Given the description of an element on the screen output the (x, y) to click on. 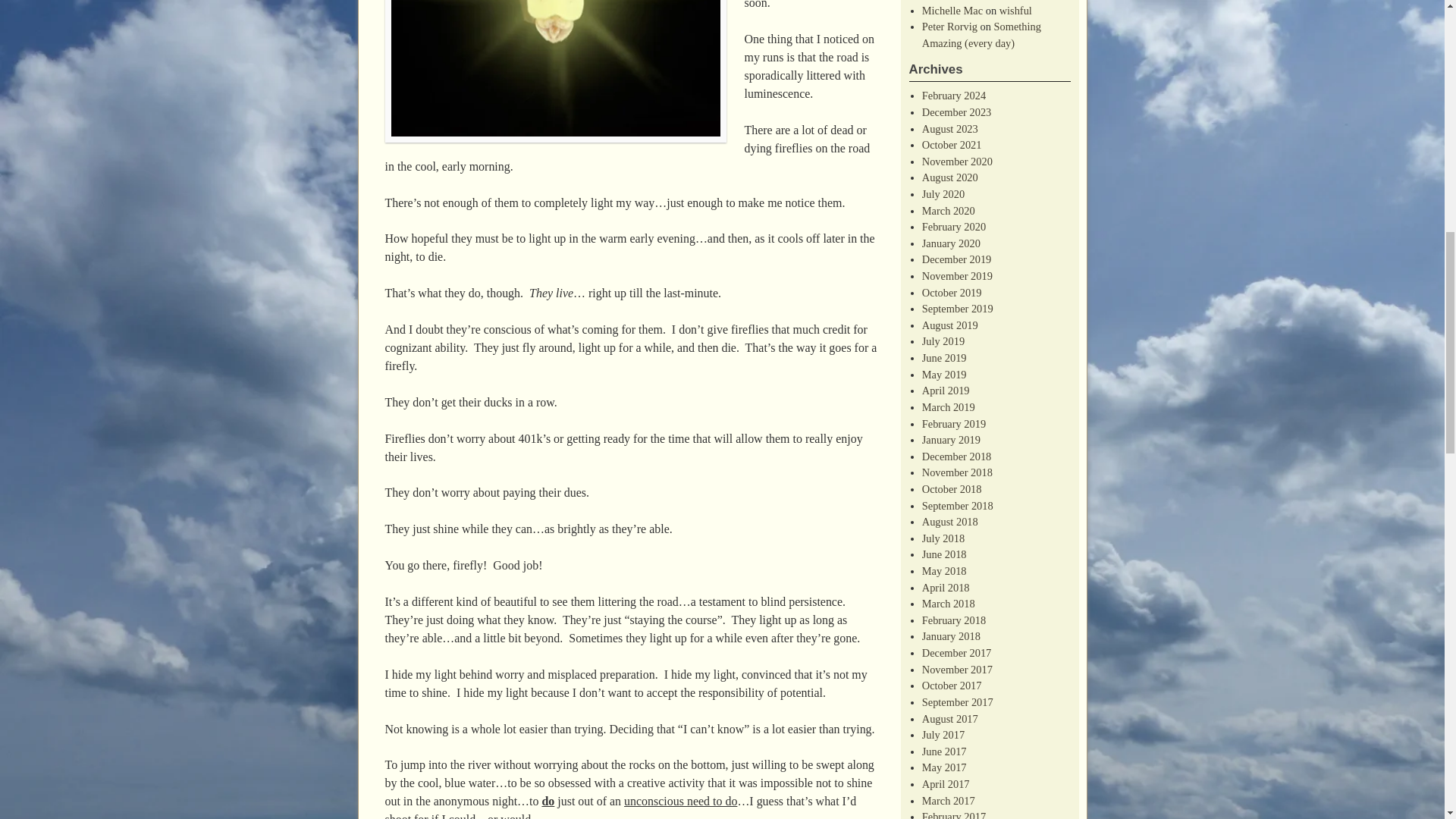
wishful (1015, 10)
August 2023 (949, 128)
December 2023 (956, 111)
February 2024 (953, 95)
Peter Rorvig (948, 26)
Michelle Mac (951, 10)
